Given the description of an element on the screen output the (x, y) to click on. 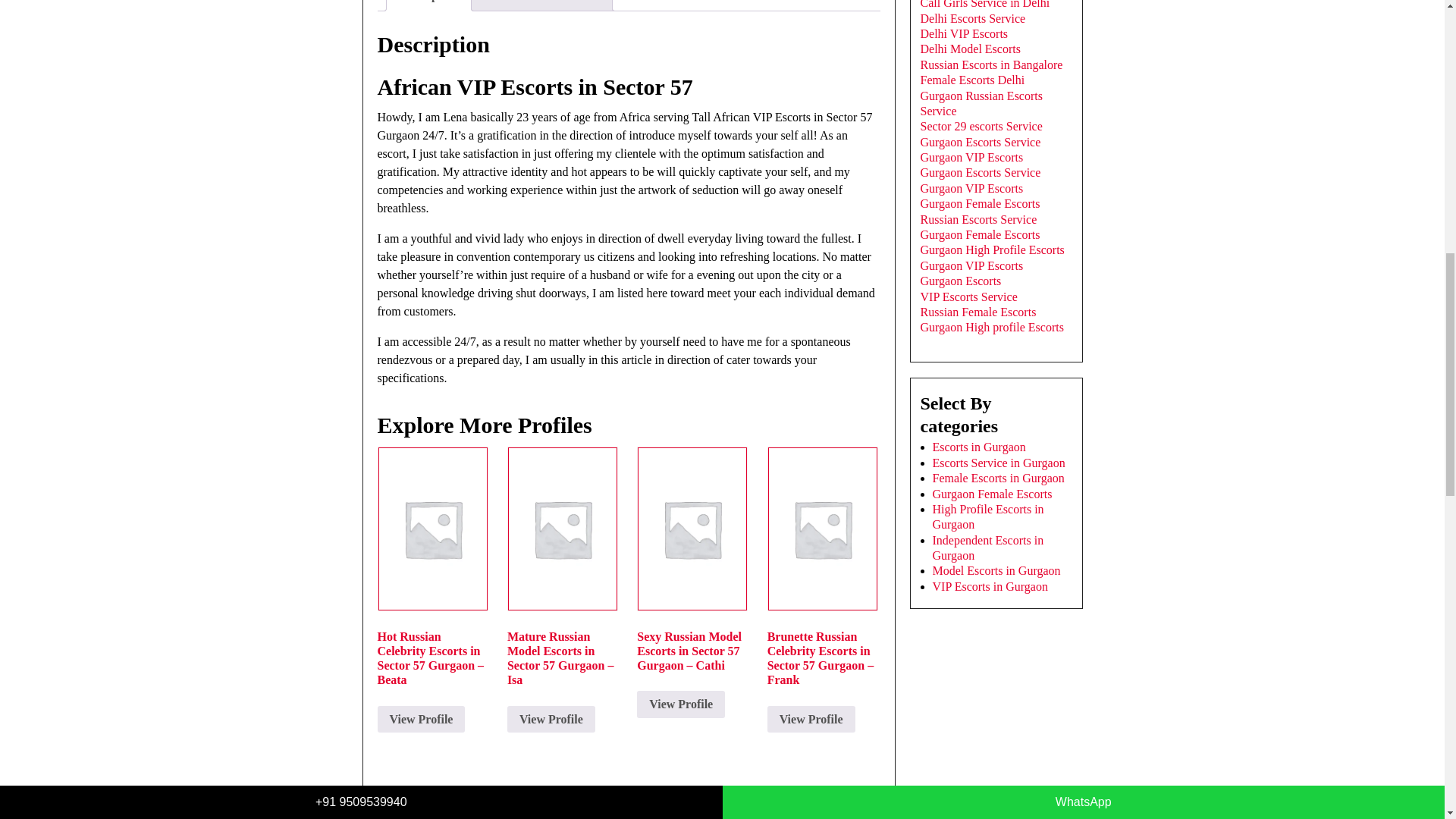
Description (428, 5)
Additional information (539, 5)
View Profile (421, 719)
